Given the description of an element on the screen output the (x, y) to click on. 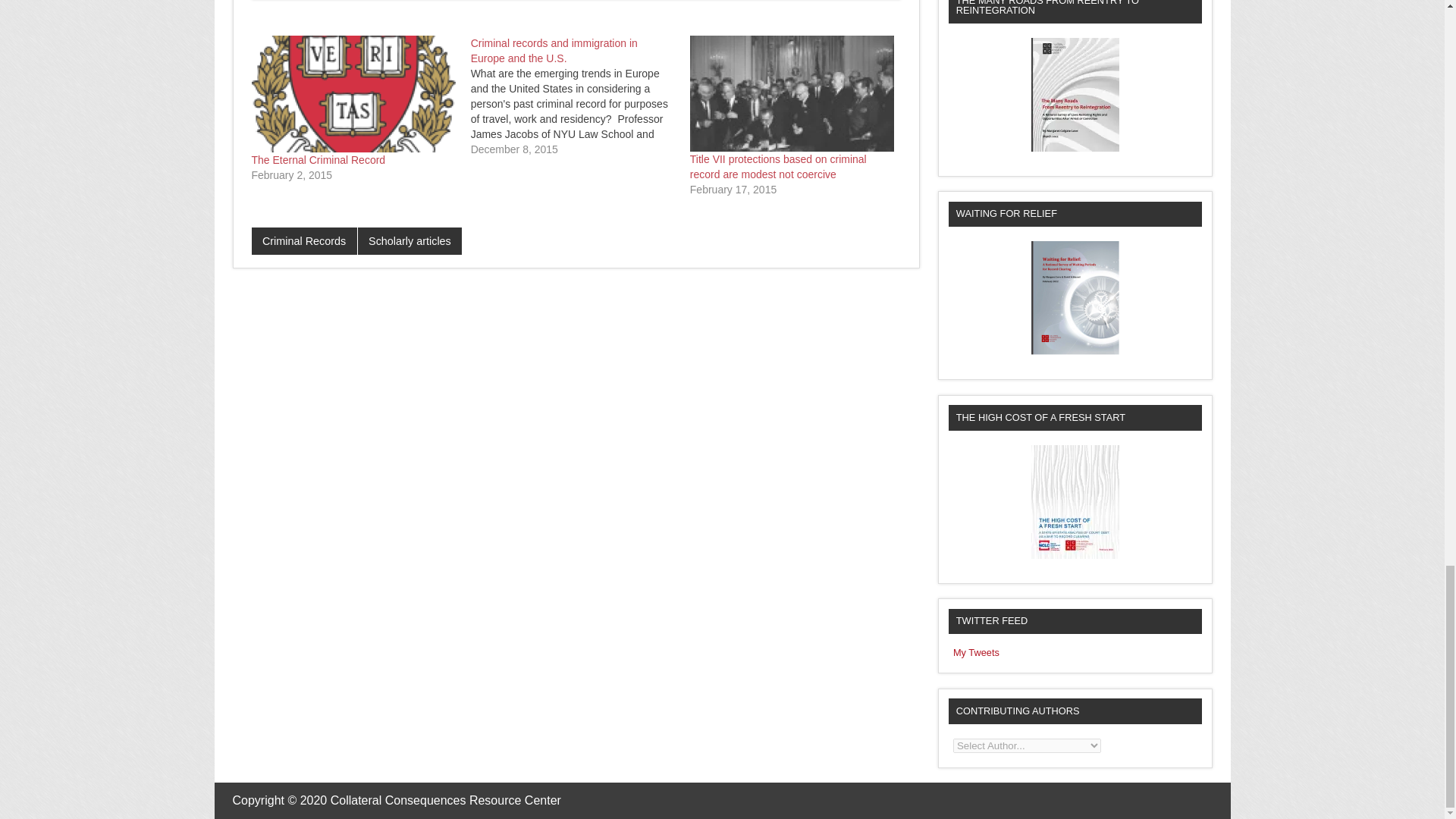
The Eternal Criminal Record (353, 94)
Criminal records and immigration in Europe and the U.S. (553, 50)
The Eternal Criminal Record (318, 159)
Criminal records and immigration in Europe and the U.S. (580, 96)
